Given the description of an element on the screen output the (x, y) to click on. 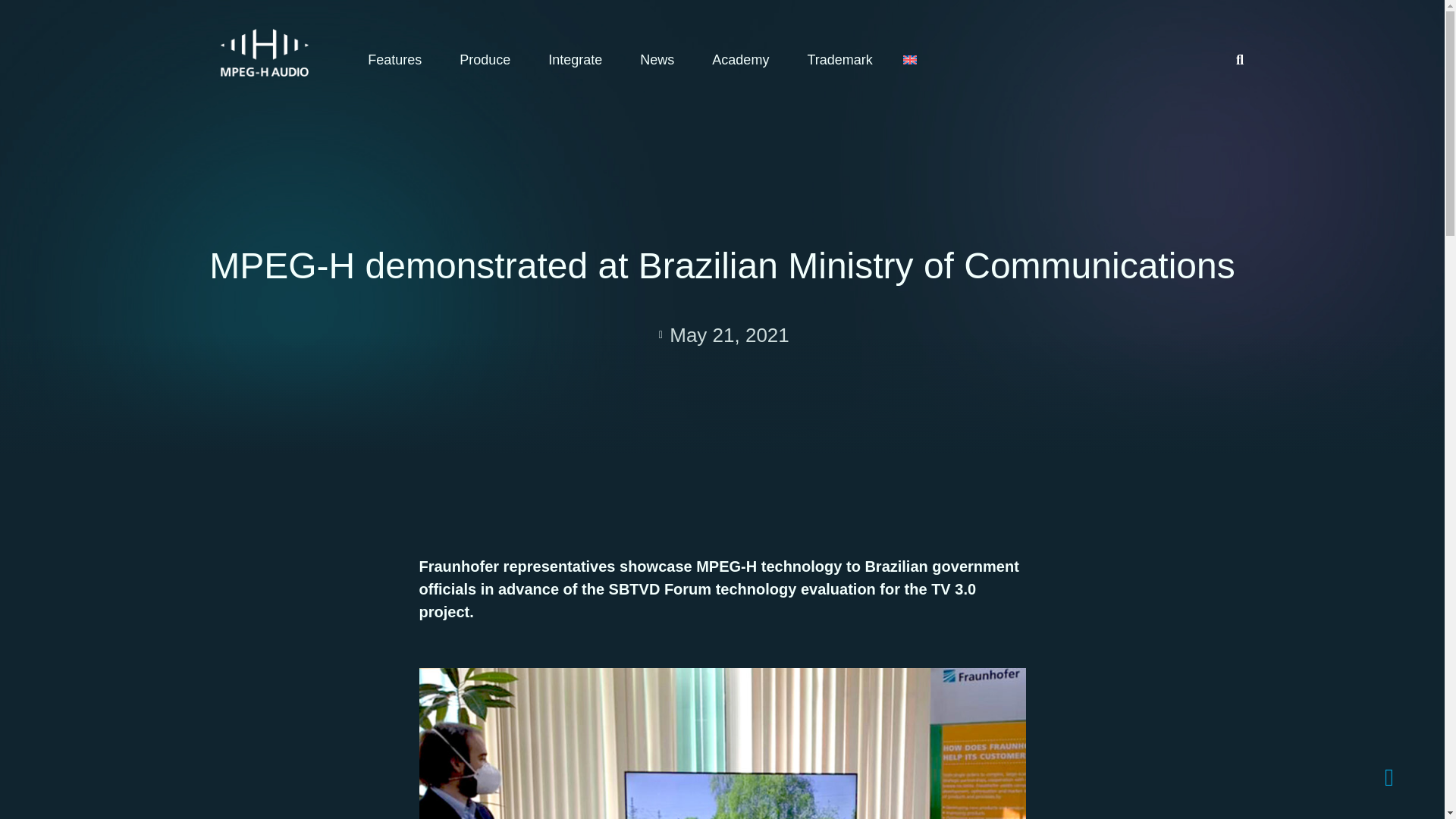
Trademark (839, 59)
Integrate (578, 59)
News (660, 59)
Features (398, 59)
Academy (744, 59)
Produce (488, 59)
